Given the description of an element on the screen output the (x, y) to click on. 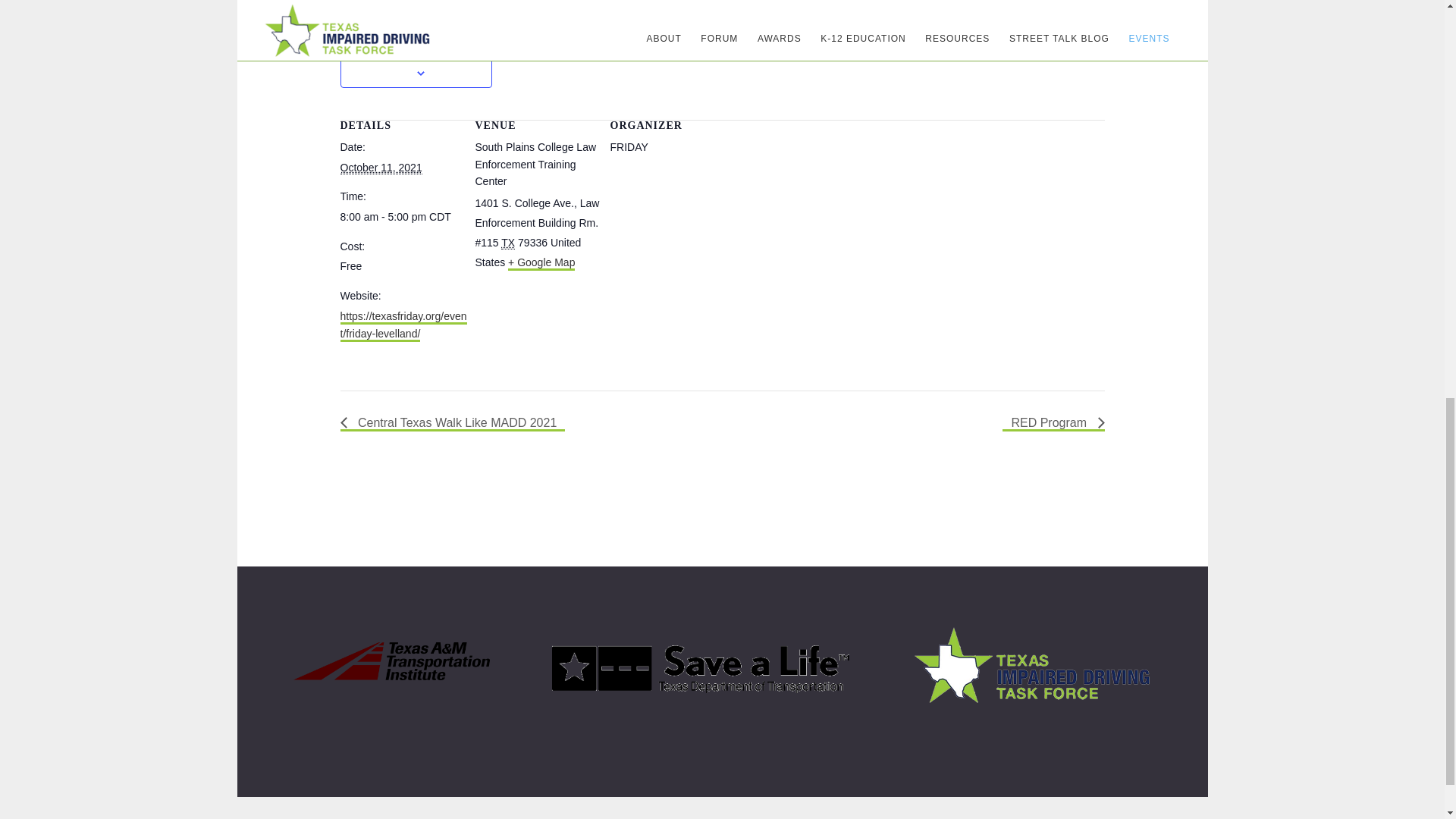
Texas (507, 242)
2021-10-11 (380, 167)
Central Texas Walk Like MADD 2021 (451, 423)
2021-10-11 (403, 217)
Click to view a Google Map (541, 263)
RED Program (1053, 423)
ADD TO CALENDAR (415, 55)
